Given the description of an element on the screen output the (x, y) to click on. 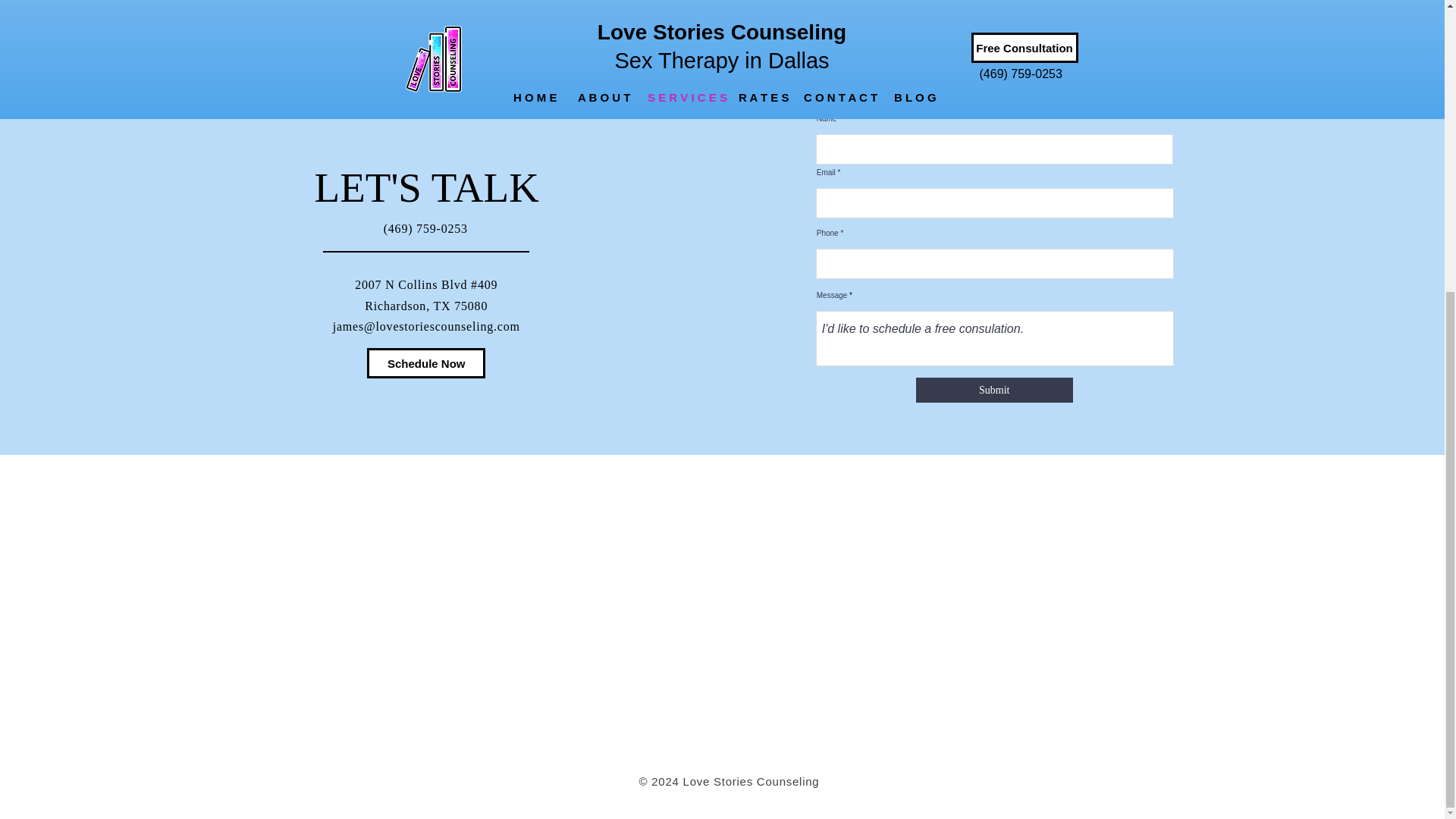
Submit (994, 389)
Free Consultation (722, 27)
Schedule Now (425, 363)
